Given the description of an element on the screen output the (x, y) to click on. 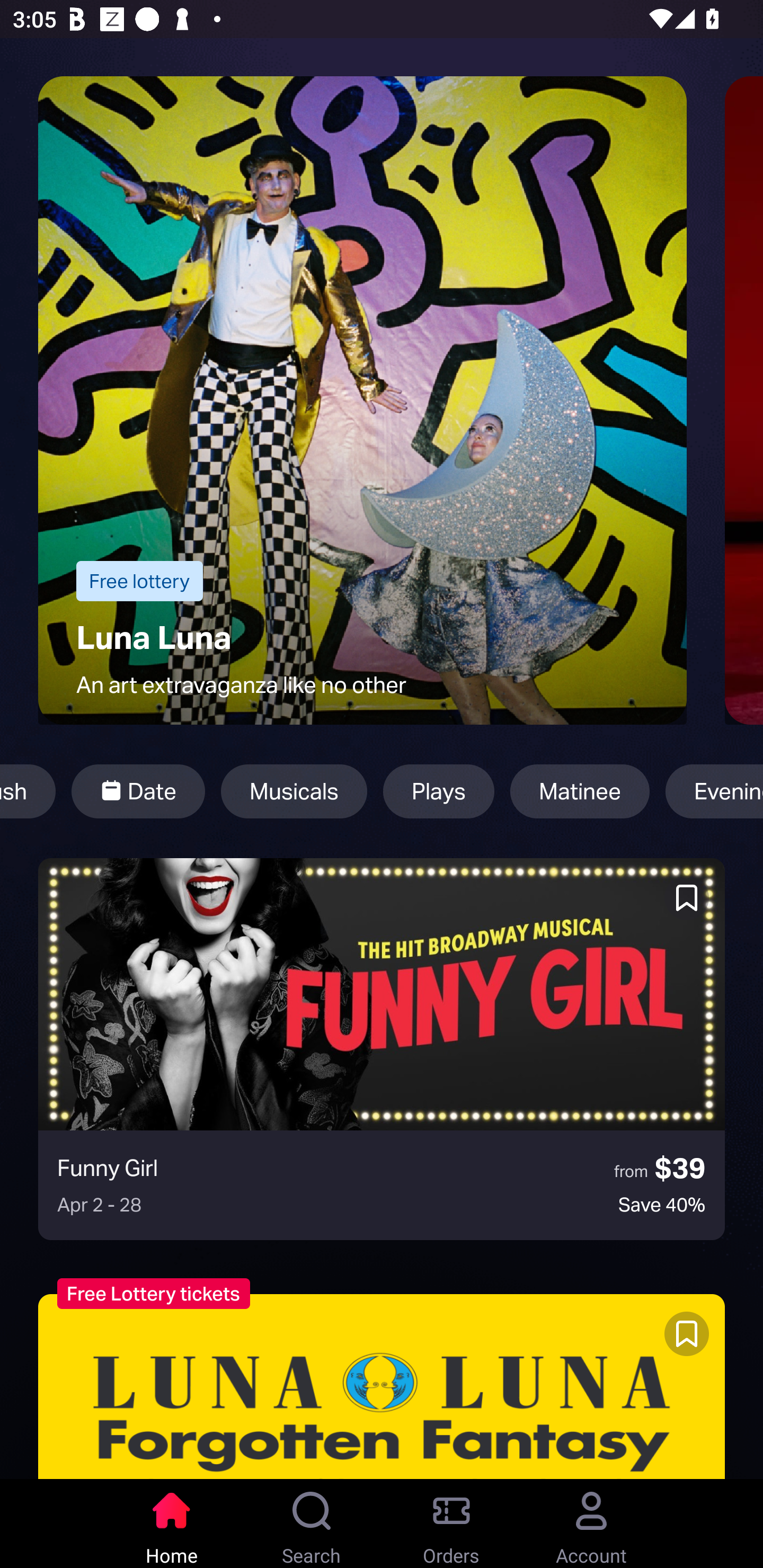
Date (138, 791)
Musicals (294, 791)
Plays (438, 791)
Matinee (579, 791)
Funny Girl from $39 Apr 2 - 28 Save 40% (381, 1048)
Search (311, 1523)
Orders (451, 1523)
Account (591, 1523)
